Given the description of an element on the screen output the (x, y) to click on. 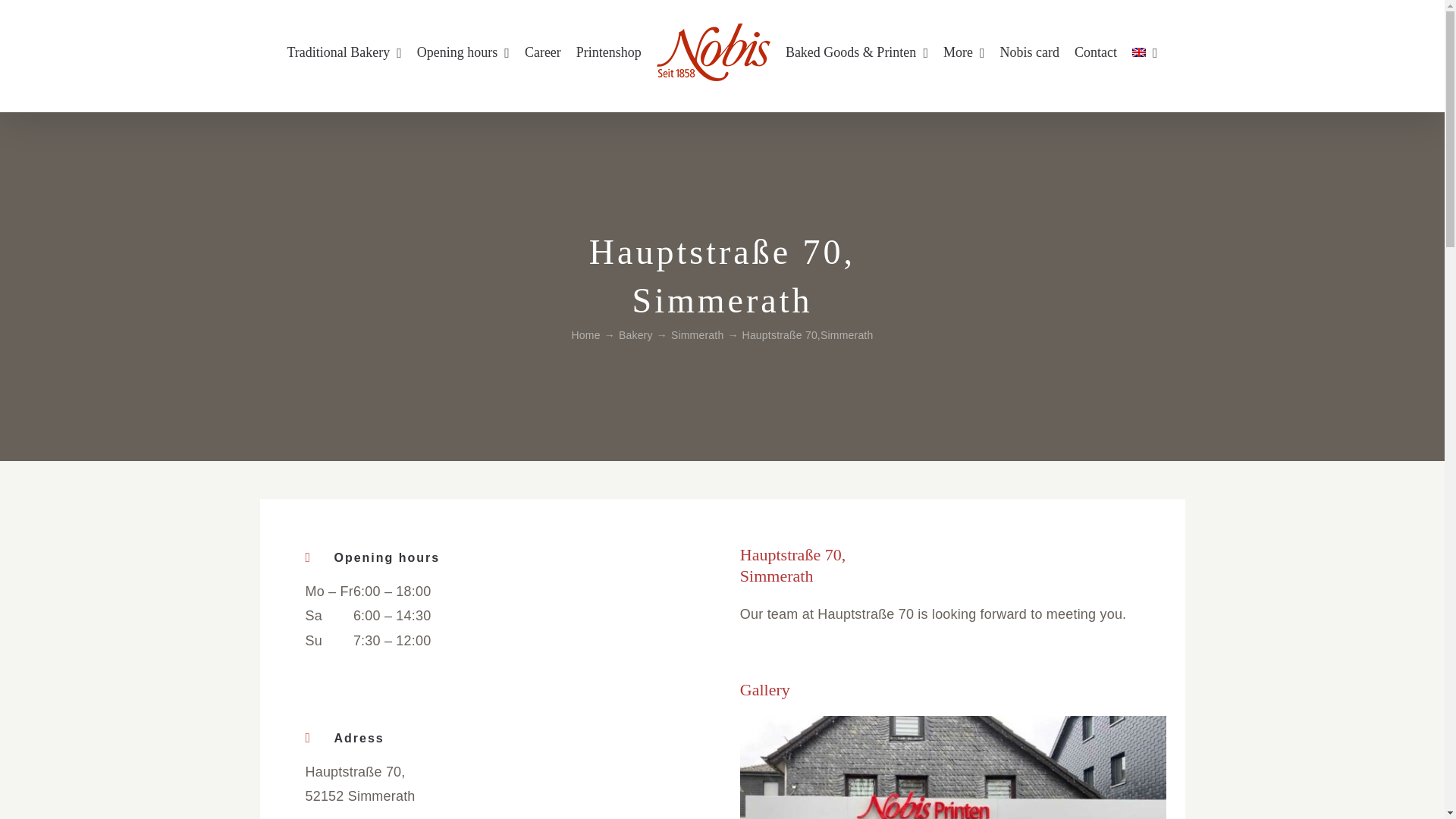
Nobis card (1029, 52)
simmerath-hauptstrasse (952, 767)
Opening hours (462, 52)
Traditional Bakery (343, 52)
Printenshop (609, 52)
